Given the description of an element on the screen output the (x, y) to click on. 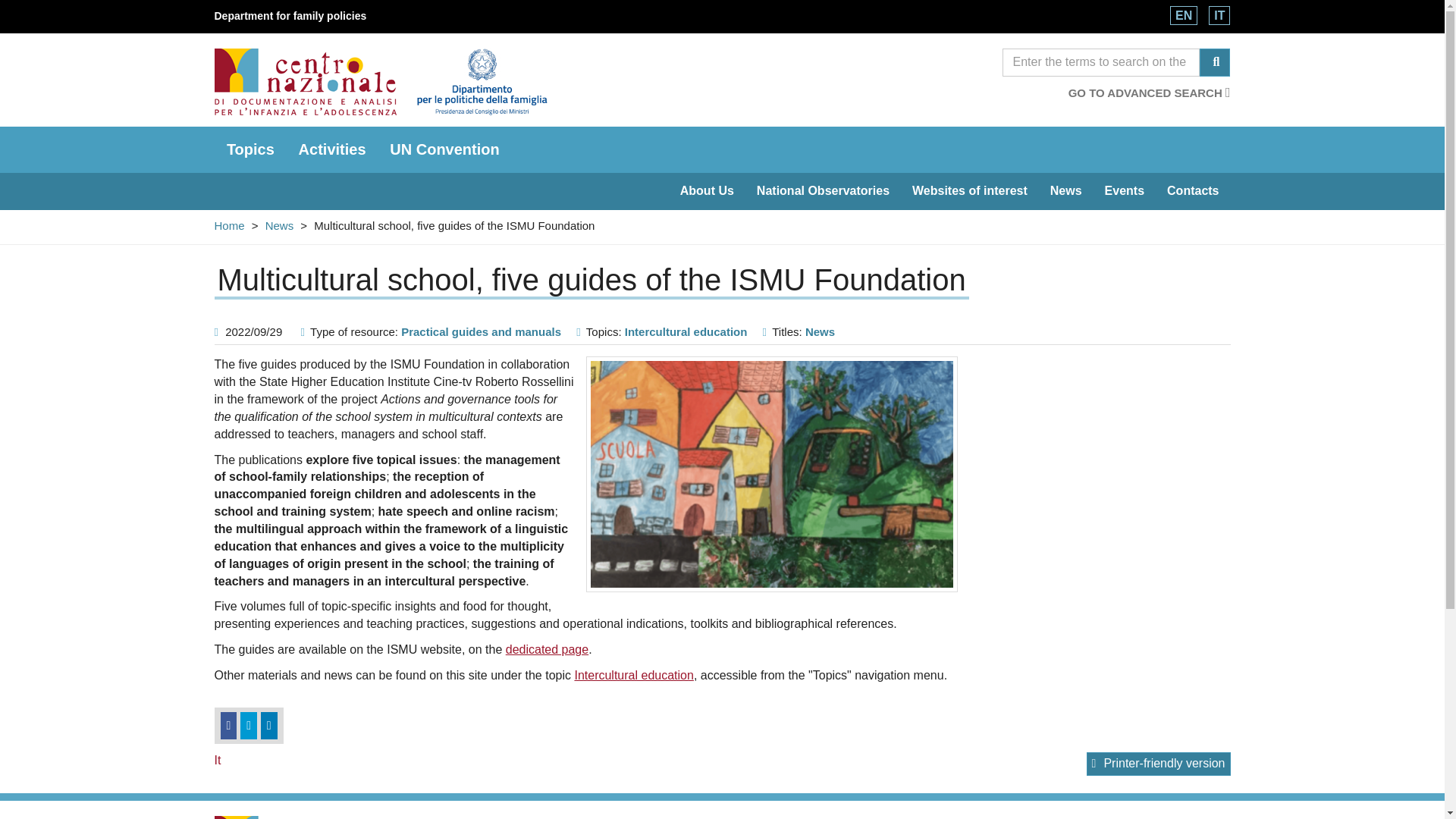
Sito del Dipartimento per le politiche della famiglia (290, 15)
Topics (249, 148)
IT (1219, 15)
Search (1101, 62)
Department for family policies (290, 15)
Cerca (1214, 62)
GO TO ADVANCED SEARCH (1149, 92)
EN (1183, 15)
